Given the description of an element on the screen output the (x, y) to click on. 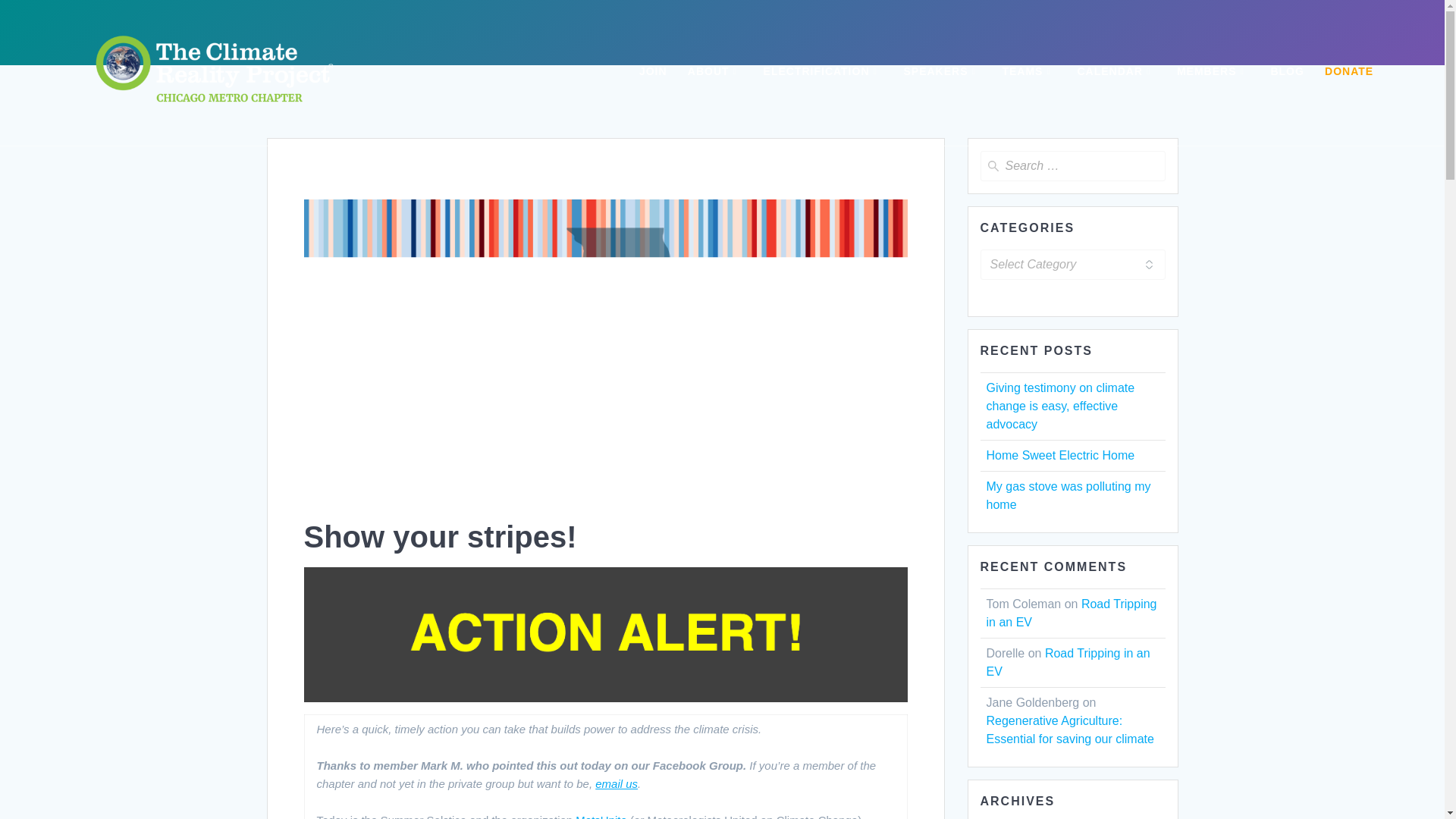
MEMBERS (1212, 72)
ABOUT (714, 72)
CALENDAR (1116, 72)
ELECTRIFICATION (822, 72)
TEAMS (1029, 72)
SPEAKERS (941, 72)
BLOG (1286, 72)
DONATE (1348, 72)
JOIN (652, 72)
